Given the description of an element on the screen output the (x, y) to click on. 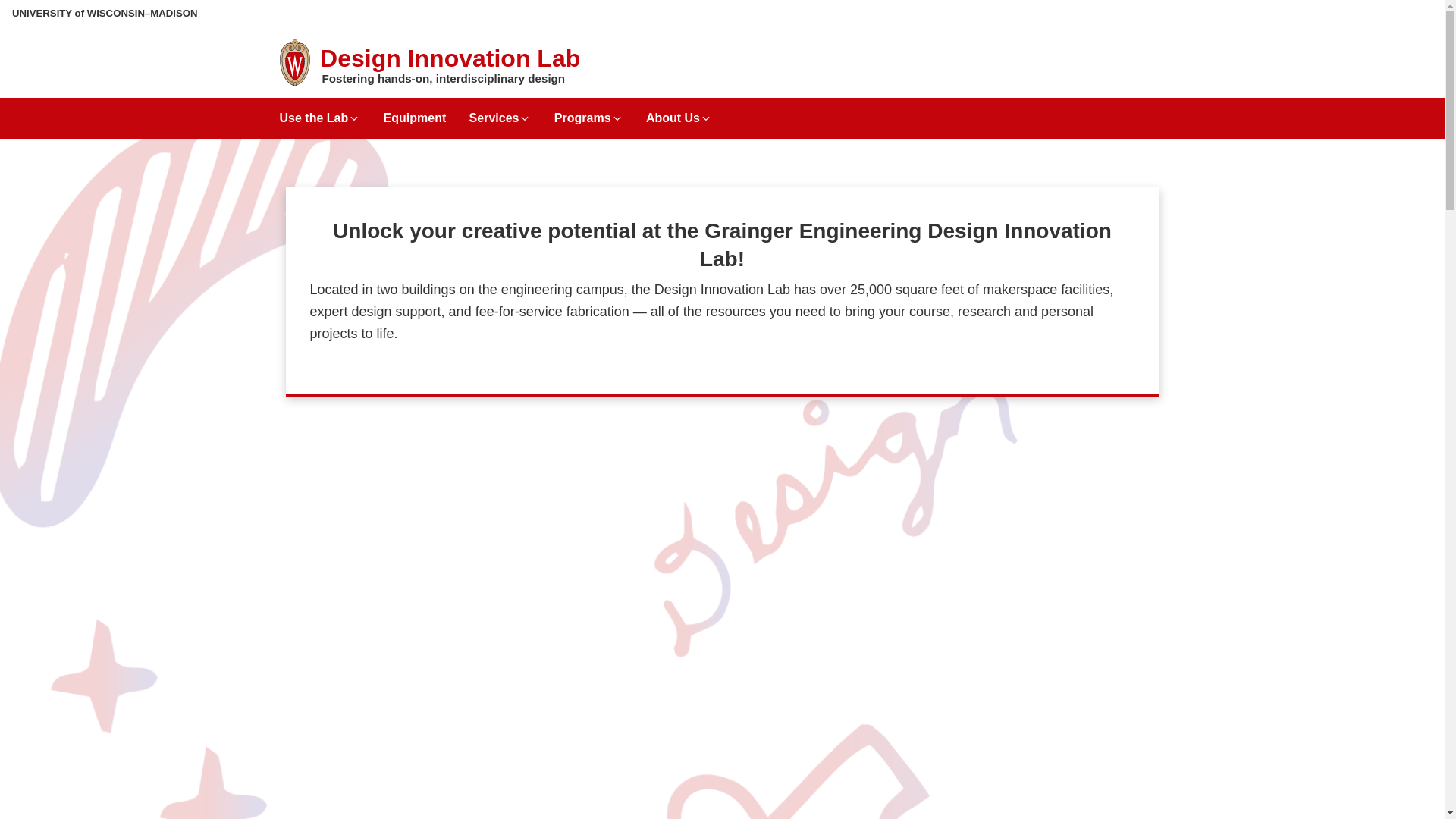
Use the Lab Expand (319, 112)
Equipment (415, 112)
Services Expand (499, 112)
Skip to main content (3, 3)
About Us Expand (678, 112)
Design Innovation Lab (449, 58)
Expand (617, 118)
Programs Expand (588, 112)
Expand (353, 118)
Expand (524, 118)
